Given the description of an element on the screen output the (x, y) to click on. 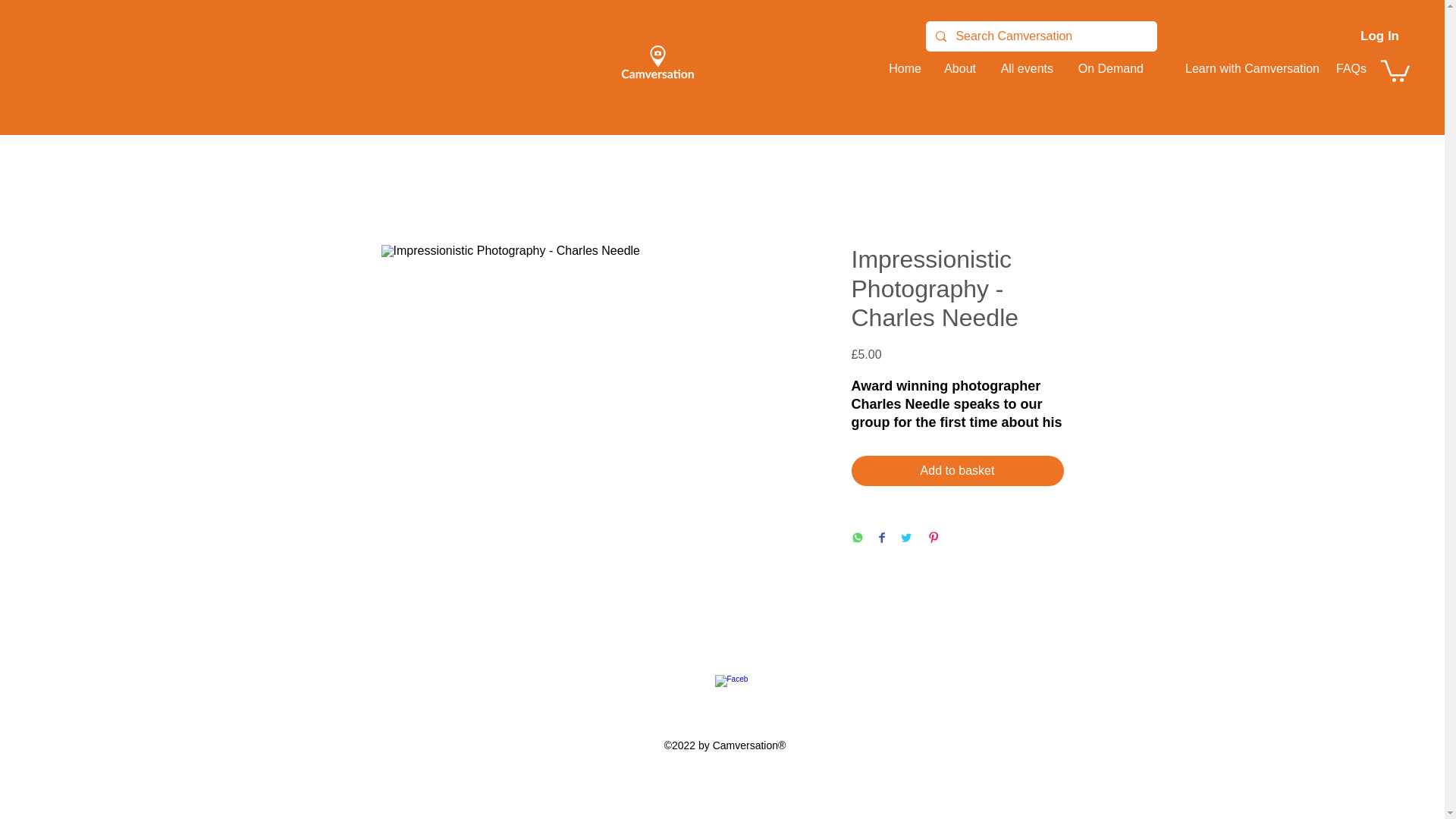
Home (902, 68)
About (956, 68)
Learn with Camversation (1238, 68)
On Demand (1106, 68)
Add to basket (956, 470)
All events (1022, 68)
Log In (1379, 35)
FAQs (1350, 68)
